Given the description of an element on the screen output the (x, y) to click on. 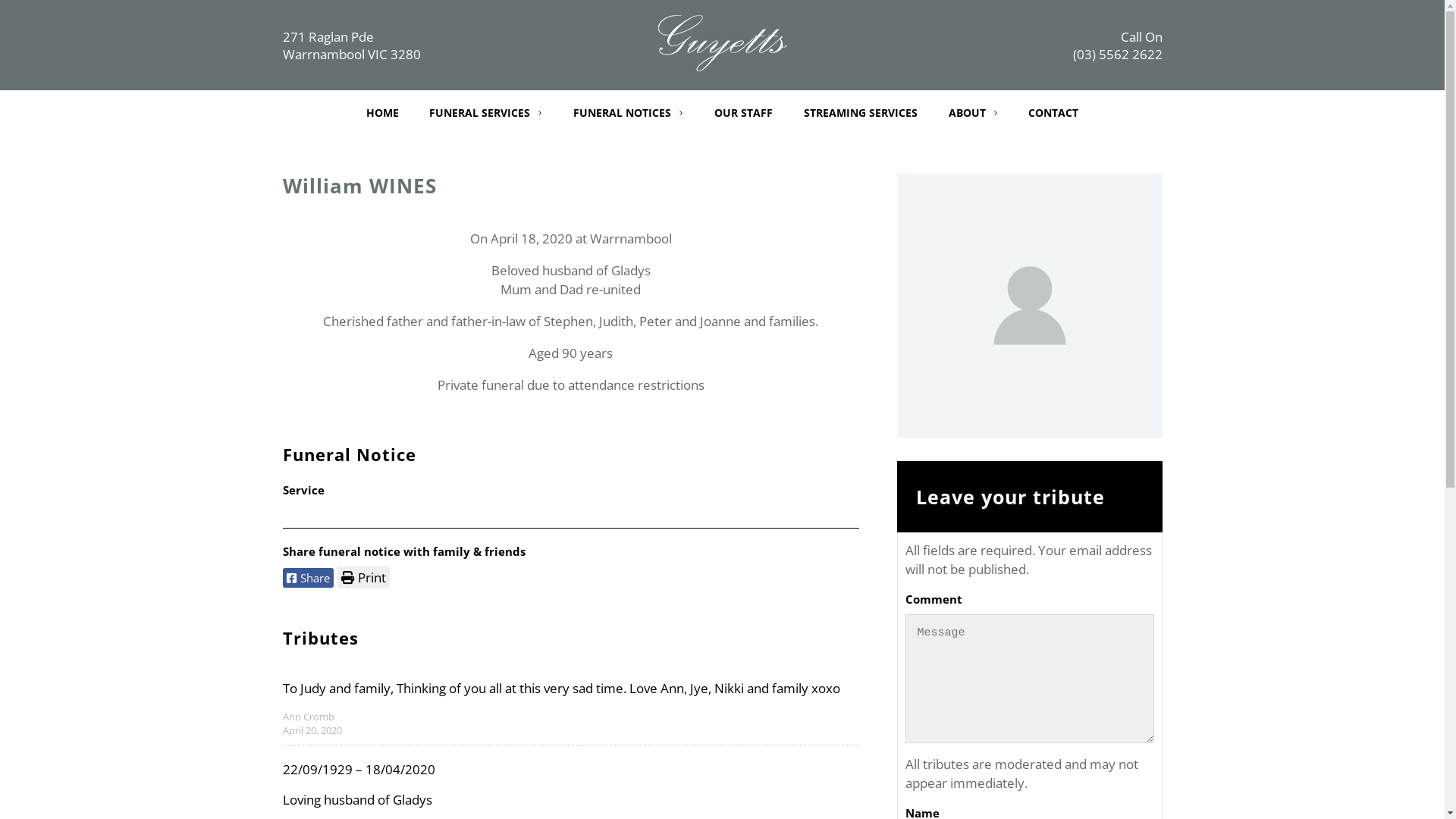
OUR STAFF Element type: text (743, 112)
STREAMING SERVICES Element type: text (860, 112)
(03) 5562 2622 Element type: text (1116, 53)
CONTACT Element type: text (1052, 112)
Print Element type: text (362, 577)
FUNERAL NOTICES Element type: text (627, 112)
Share Element type: text (307, 577)
FUNERAL SERVICES Element type: text (485, 112)
HOME Element type: text (381, 112)
ABOUT Element type: text (973, 112)
